Given the description of an element on the screen output the (x, y) to click on. 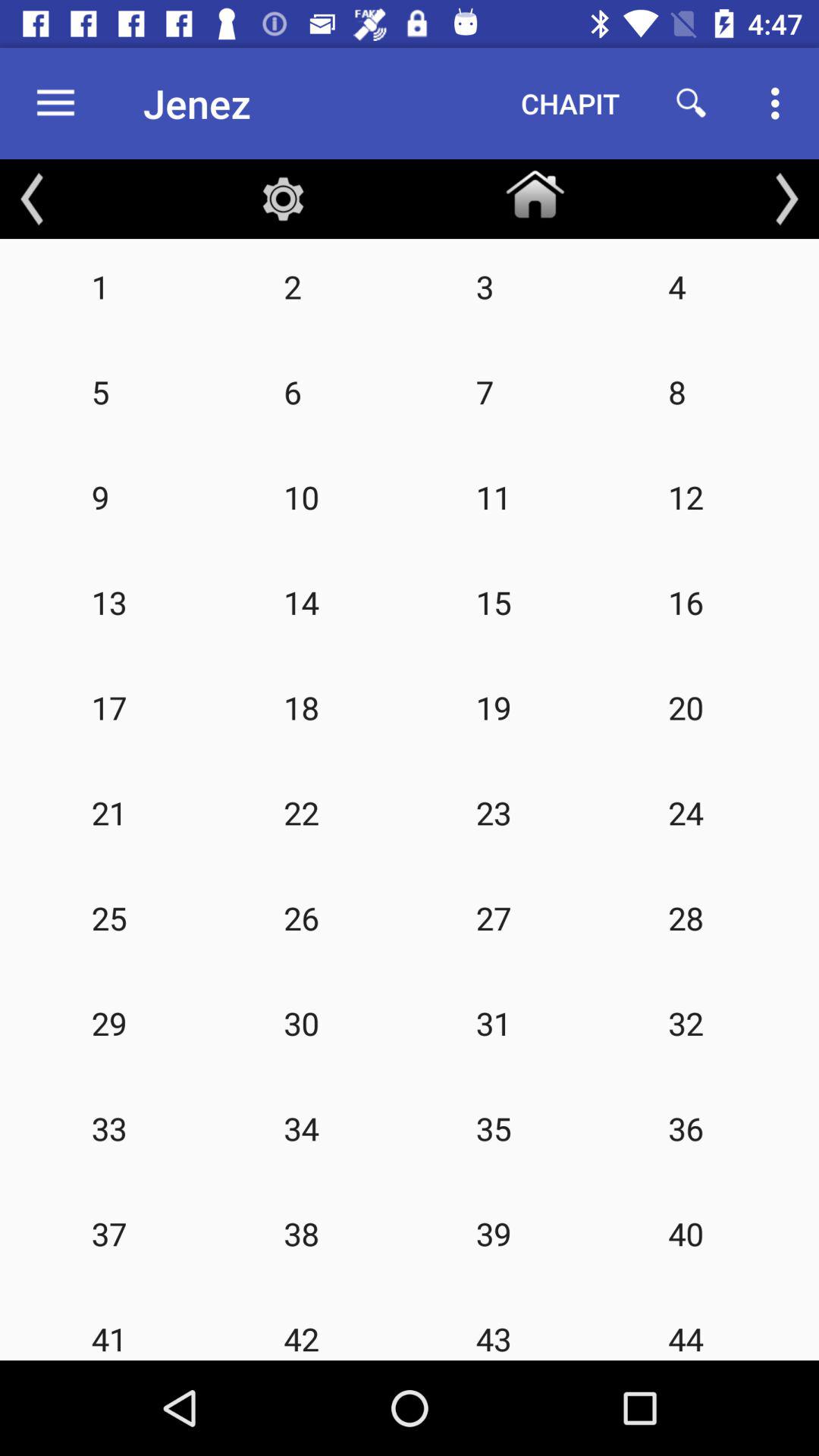
launch the item next to jenez  icon (570, 103)
